Given the description of an element on the screen output the (x, y) to click on. 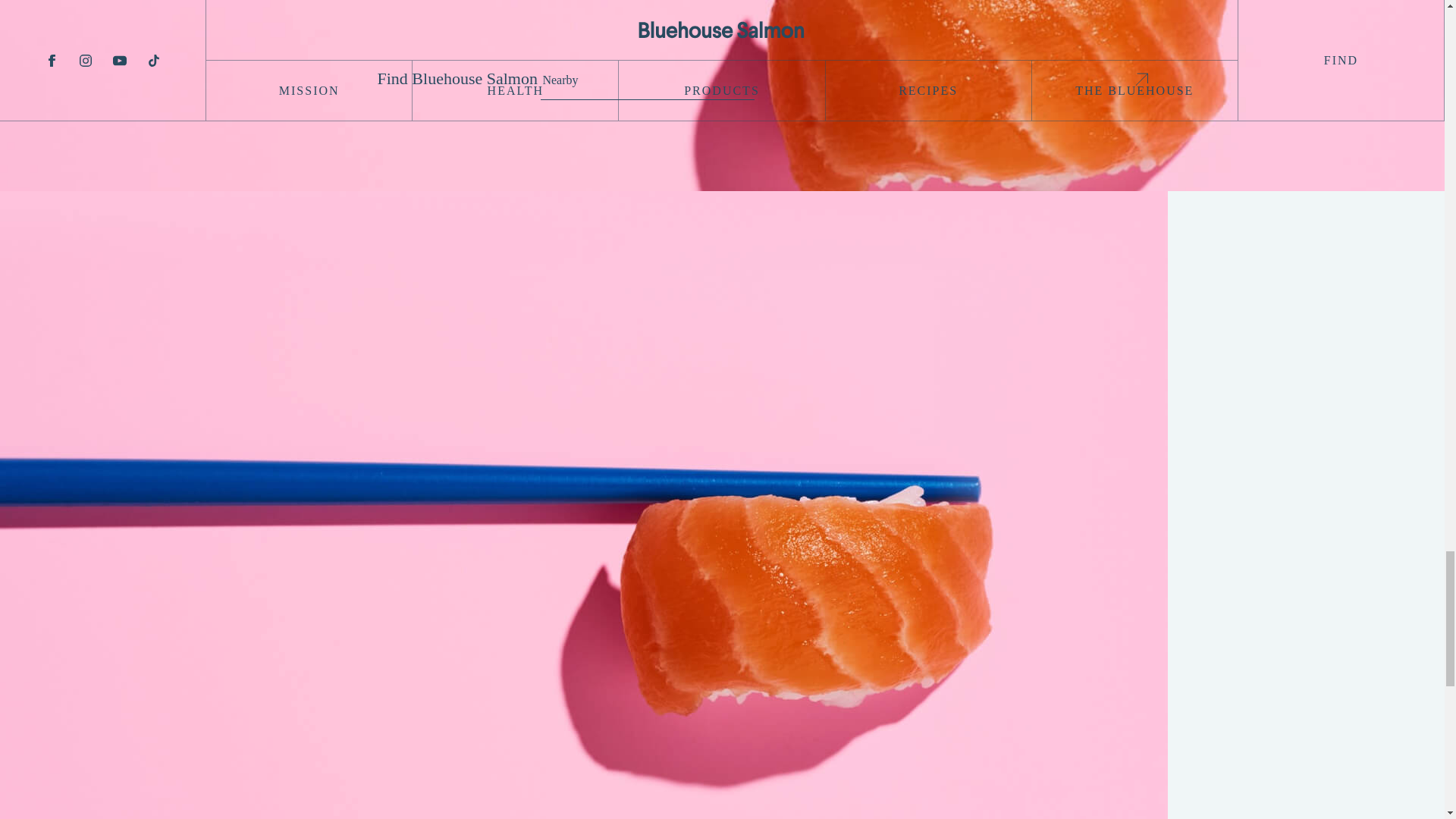
FIND (1141, 79)
FIND (1141, 79)
